Given the description of an element on the screen output the (x, y) to click on. 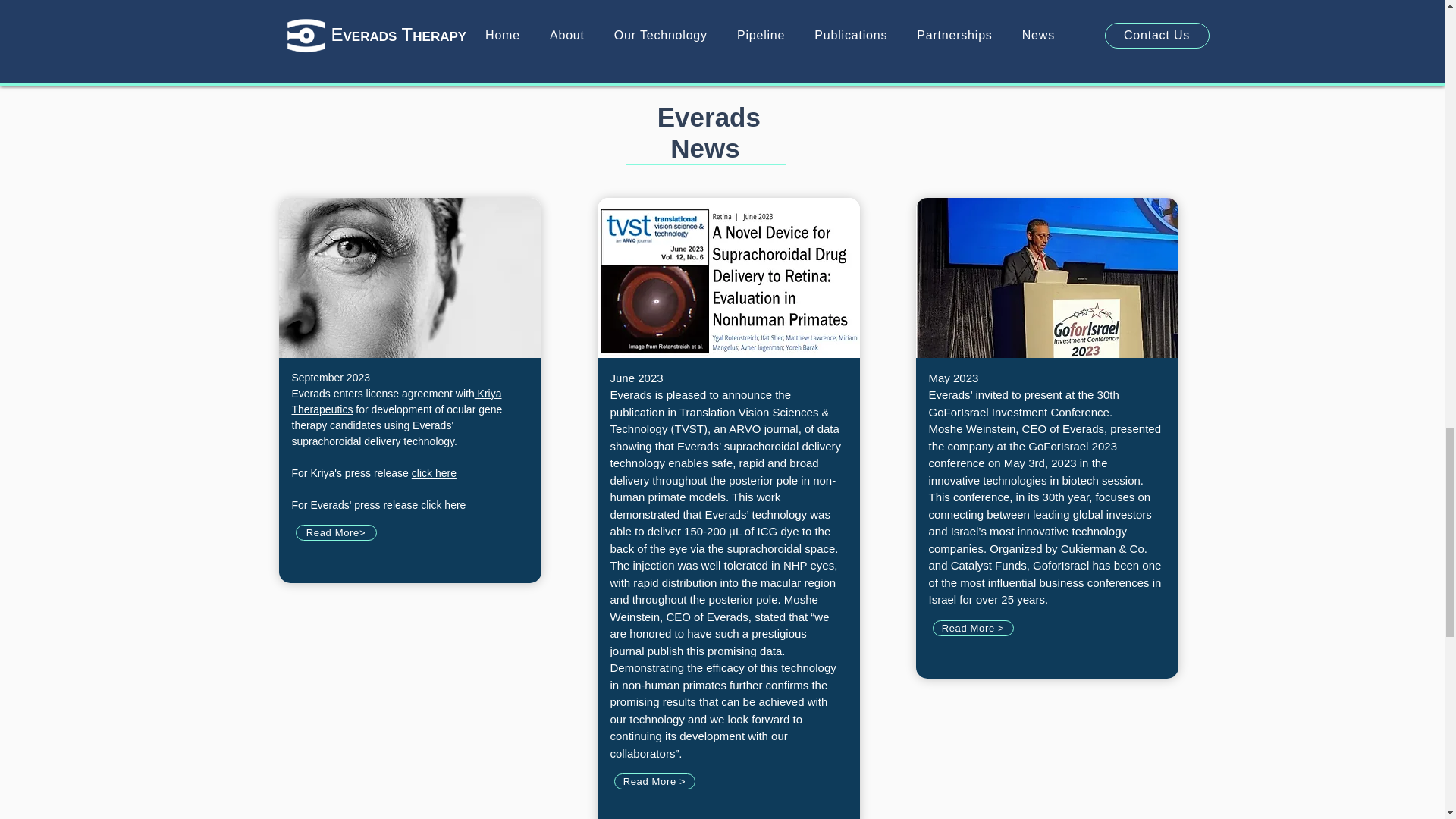
Kriya Therapeutics (395, 401)
click here (434, 472)
click here (442, 504)
